Given the description of an element on the screen output the (x, y) to click on. 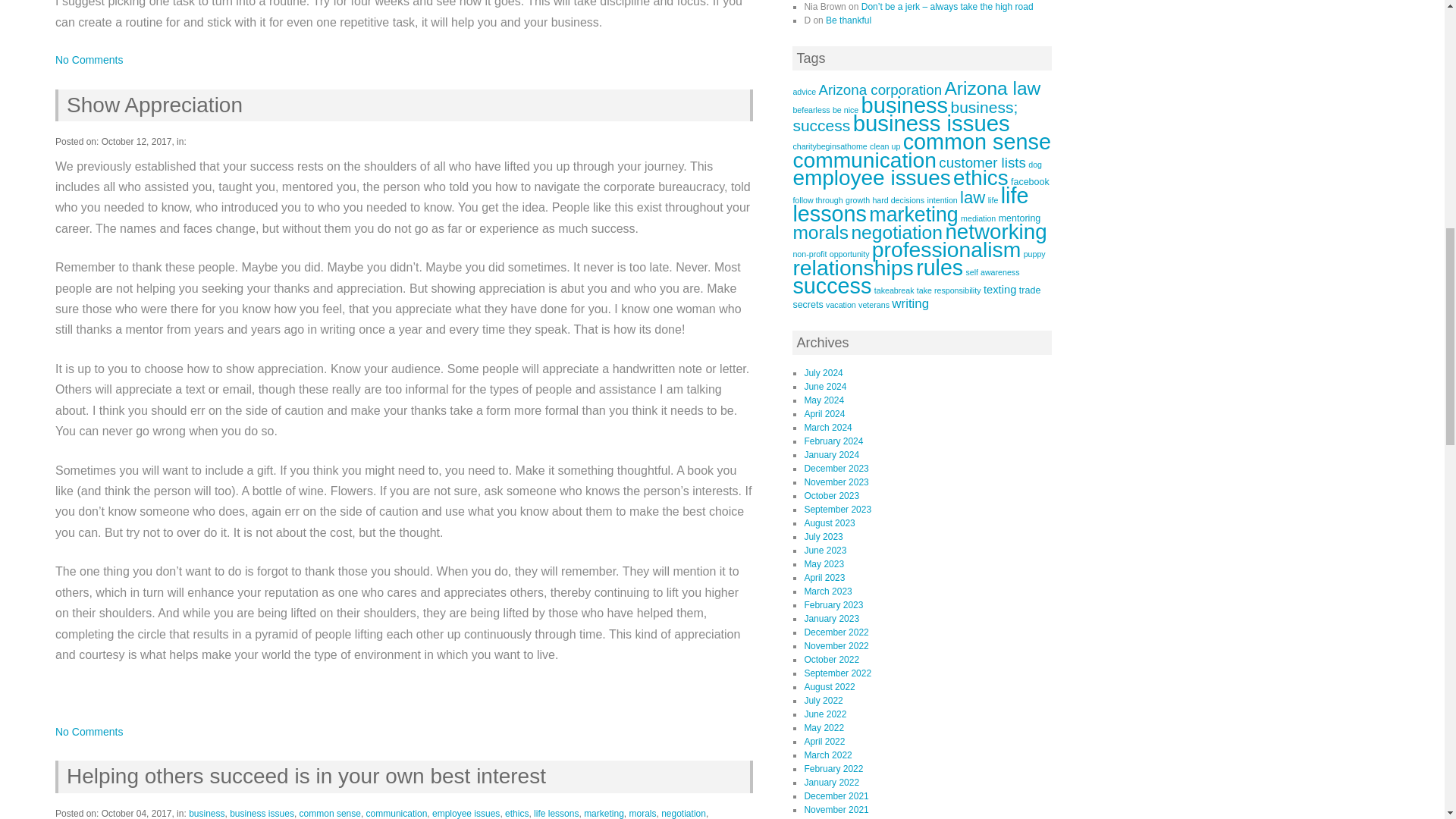
marketing (603, 813)
No Comments (88, 731)
life lessons (556, 813)
business (206, 813)
employee issues (465, 813)
morals (642, 813)
communication (397, 813)
ethics (516, 813)
No Comments (88, 60)
Show Appreciation (151, 105)
business issues (262, 813)
Helping others succeed is in your own best interest (302, 775)
common sense (330, 813)
negotiation (683, 813)
